Given the description of an element on the screen output the (x, y) to click on. 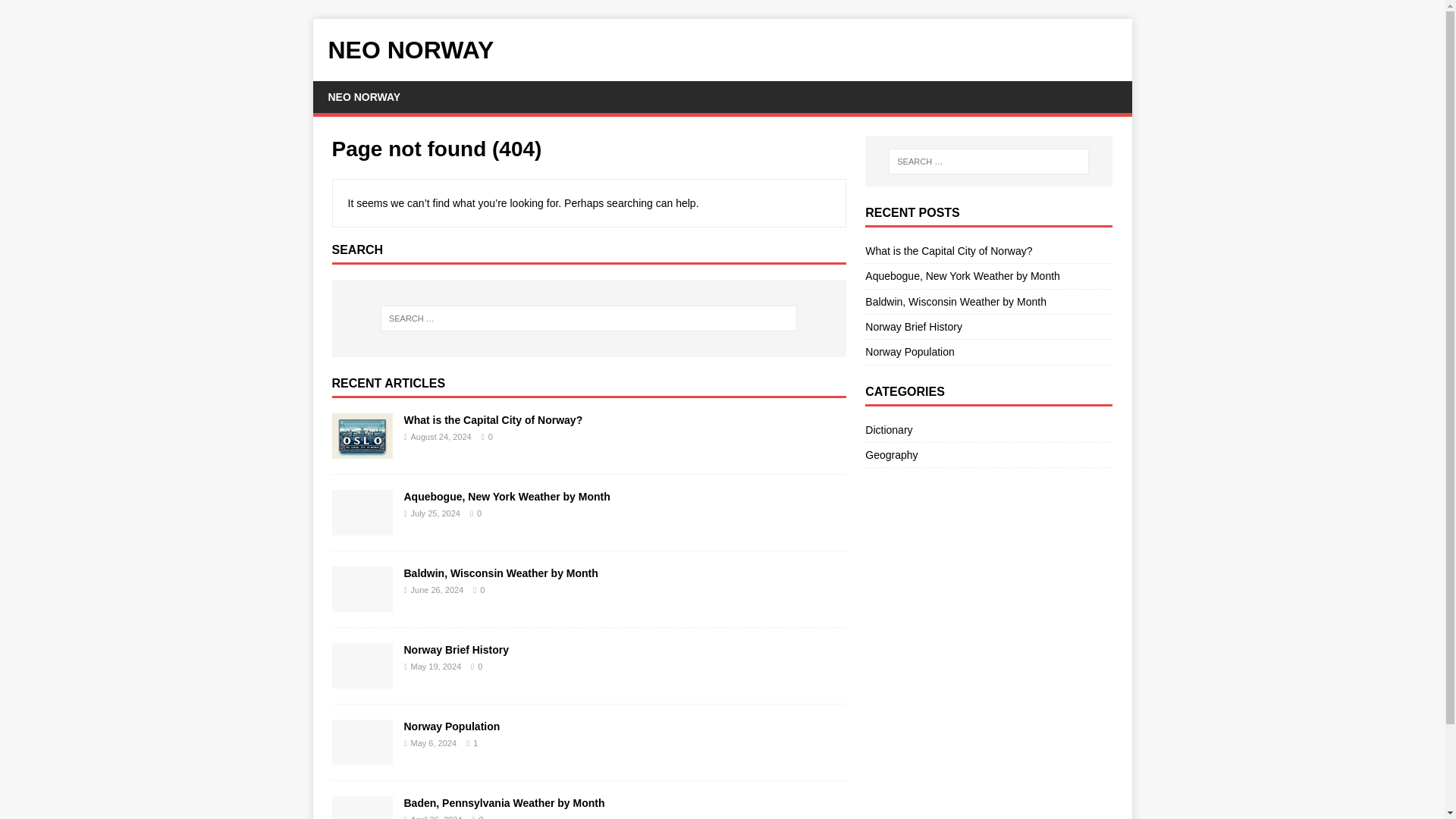
Norway Brief History (362, 679)
Baden, Pennsylvania Weather by Month (503, 802)
Aquebogue, New York Weather by Month (961, 275)
Aquebogue, New York Weather by Month (362, 526)
Norway Population (362, 756)
NEO NORWAY (721, 49)
Norway Population (451, 726)
What is the Capital City of Norway? (492, 419)
What is the Capital City of Norway? (948, 250)
What is the Capital City of Norway? (492, 419)
